Given the description of an element on the screen output the (x, y) to click on. 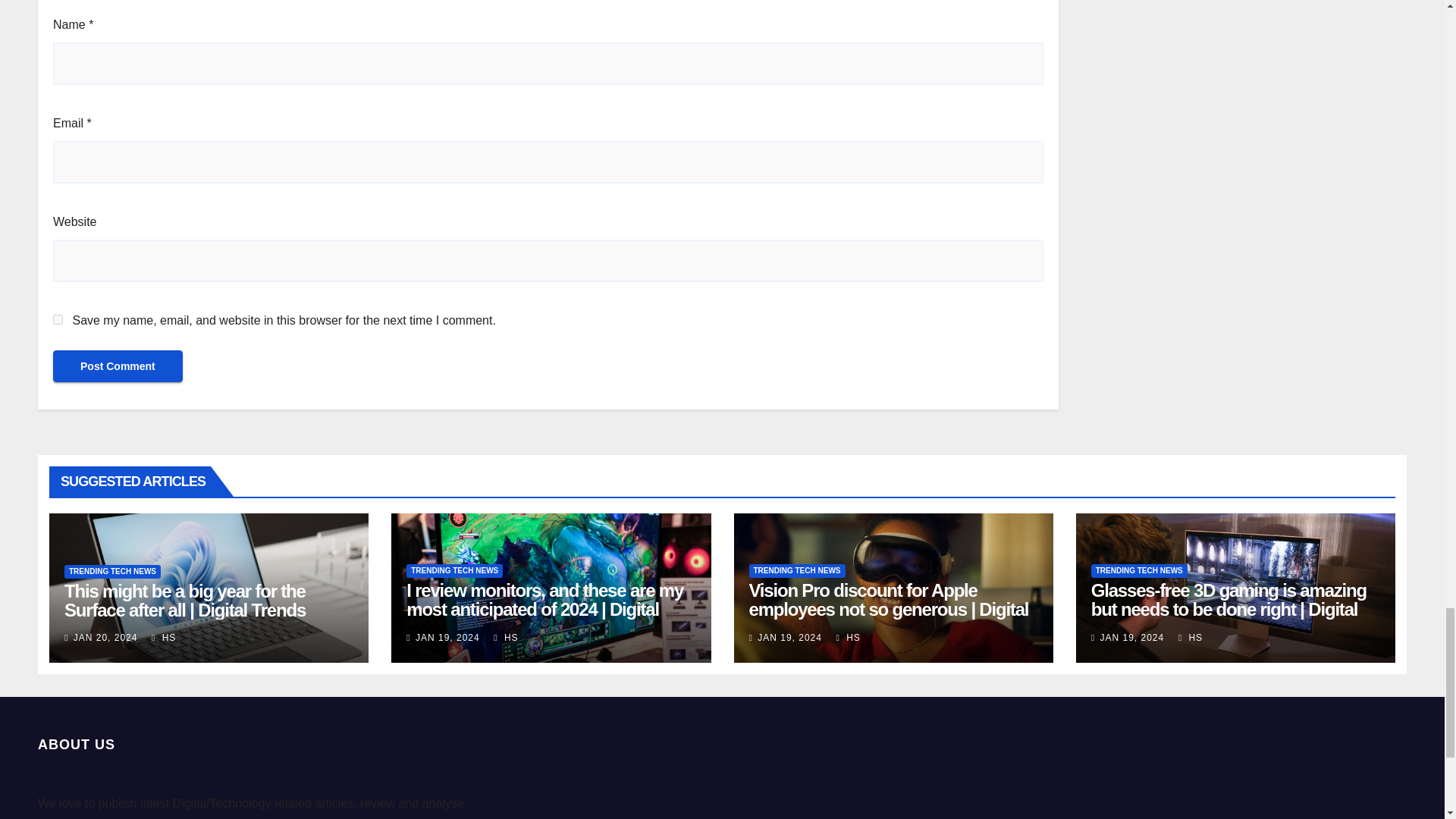
yes (57, 319)
Post Comment (117, 366)
